Given the description of an element on the screen output the (x, y) to click on. 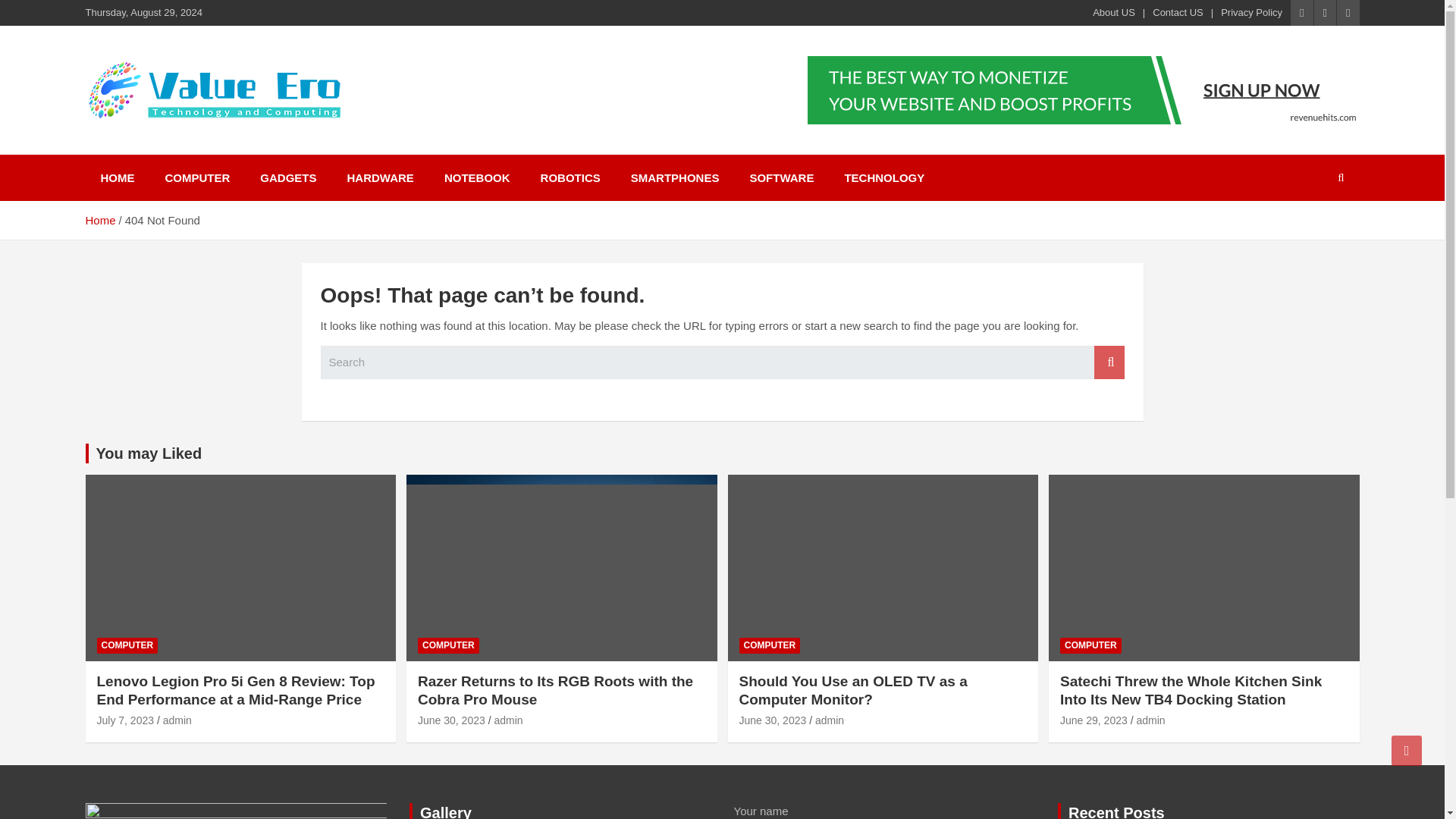
admin (507, 720)
Privacy Policy (1251, 12)
SOFTWARE (780, 177)
July 7, 2023 (125, 720)
Contact US (1177, 12)
NOTEBOOK (477, 177)
Razer Returns to Its RGB Roots with the Cobra Pro Mouse (450, 720)
Razer Returns to Its RGB Roots with the Cobra Pro Mouse (555, 690)
admin (177, 720)
